Given the description of an element on the screen output the (x, y) to click on. 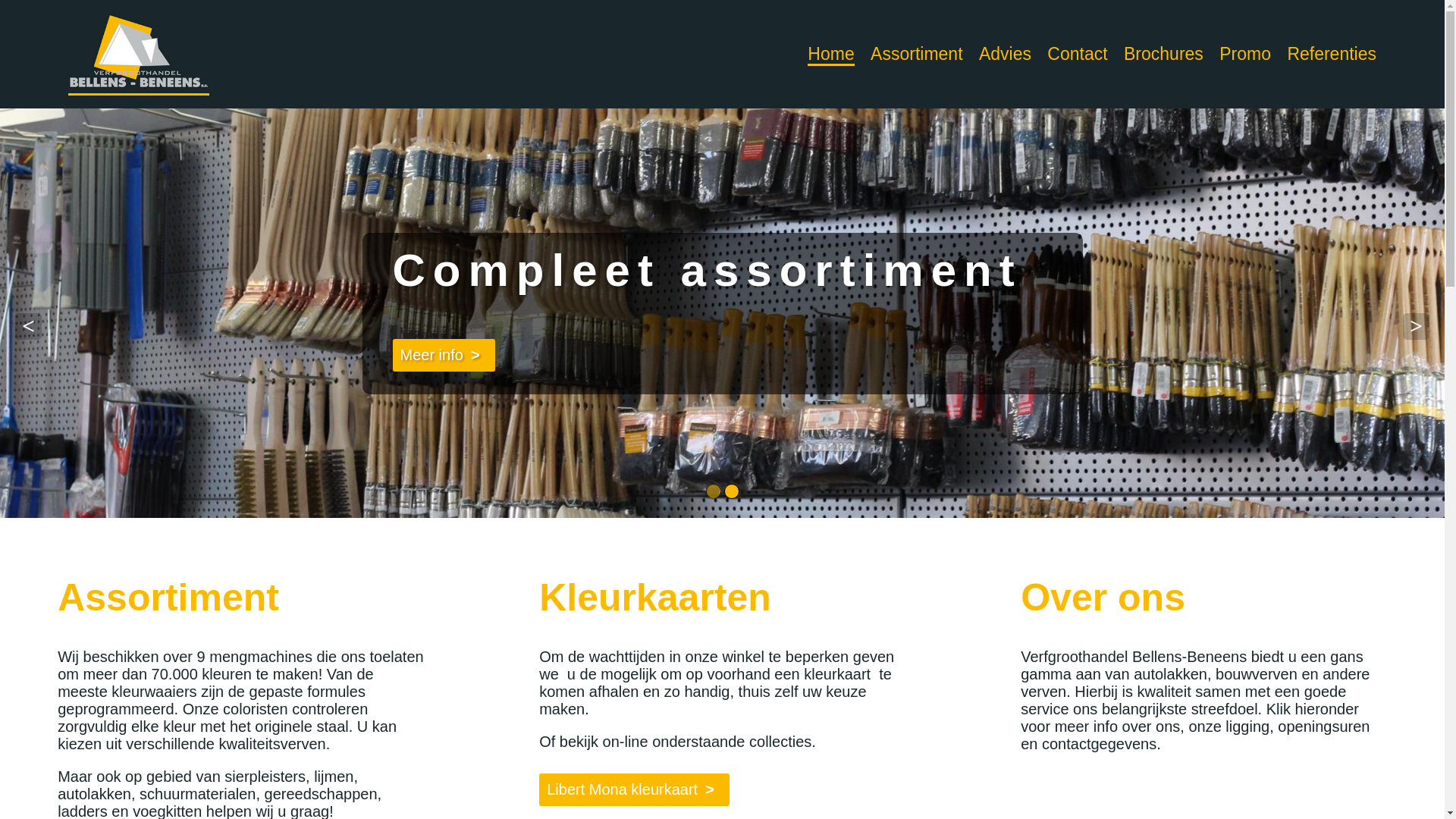
Bellens-Beneens verfgroothandel Element type: hover (138, 53)
Advies Element type: text (1005, 53)
Home Element type: text (830, 54)
Brochures Element type: text (1163, 53)
Contact Element type: text (1077, 53)
Bellens-Beneens verfgroothandel Element type: hover (138, 50)
Promo Element type: text (1244, 53)
Referenties Element type: text (1331, 53)
Meer info Element type: text (703, 354)
Assortiment Element type: text (916, 53)
Overslaan en naar de inhoud gaan Element type: text (116, 0)
Libert Mona kleurkaart Element type: text (634, 789)
